Given the description of an element on the screen output the (x, y) to click on. 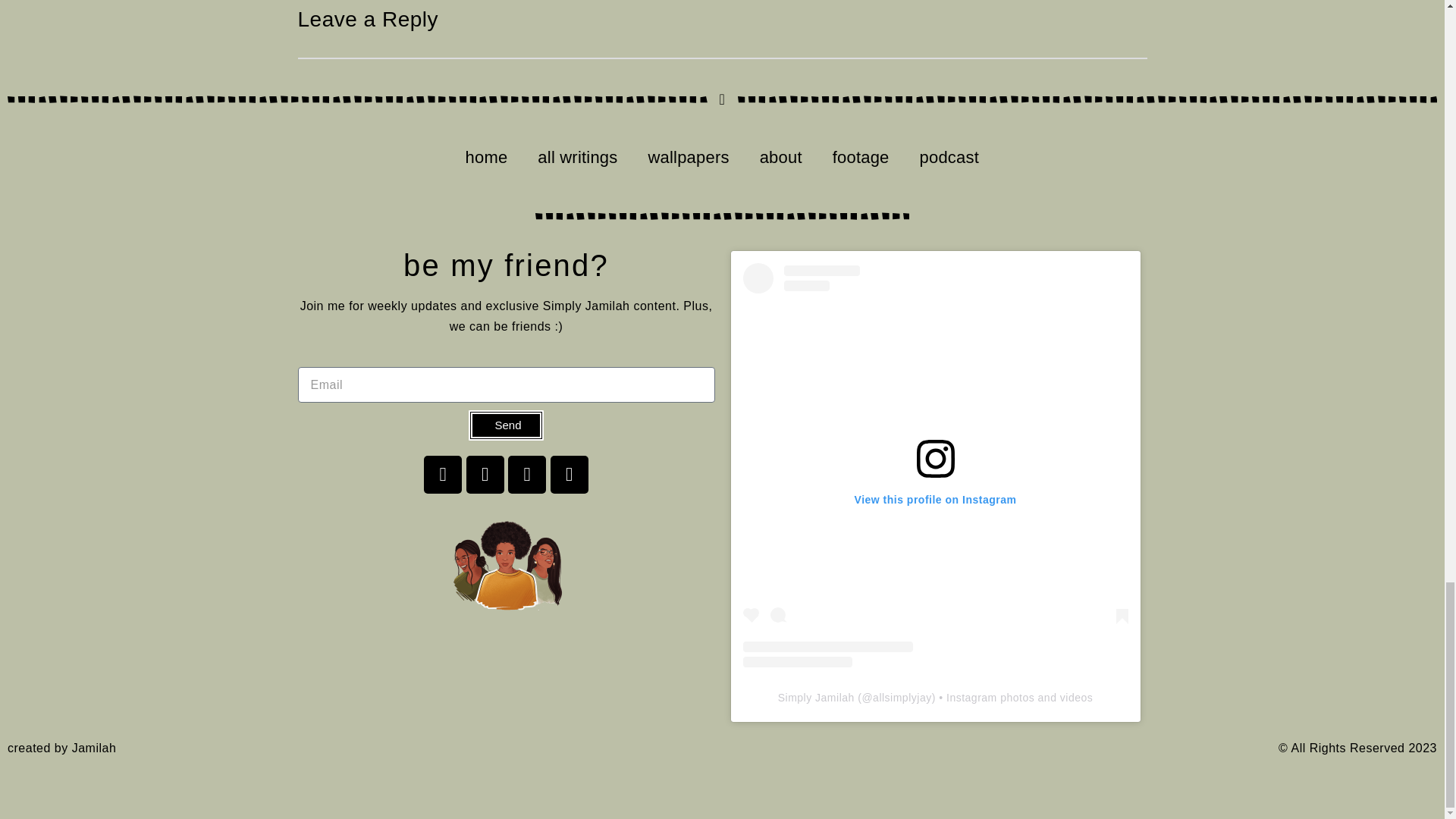
all writings (576, 156)
home (485, 156)
about (780, 156)
Simply Jamilah (815, 697)
podcast (949, 156)
allsimplyjay (901, 697)
Send (505, 425)
wallpapers (687, 156)
footage (860, 156)
